Given the description of an element on the screen output the (x, y) to click on. 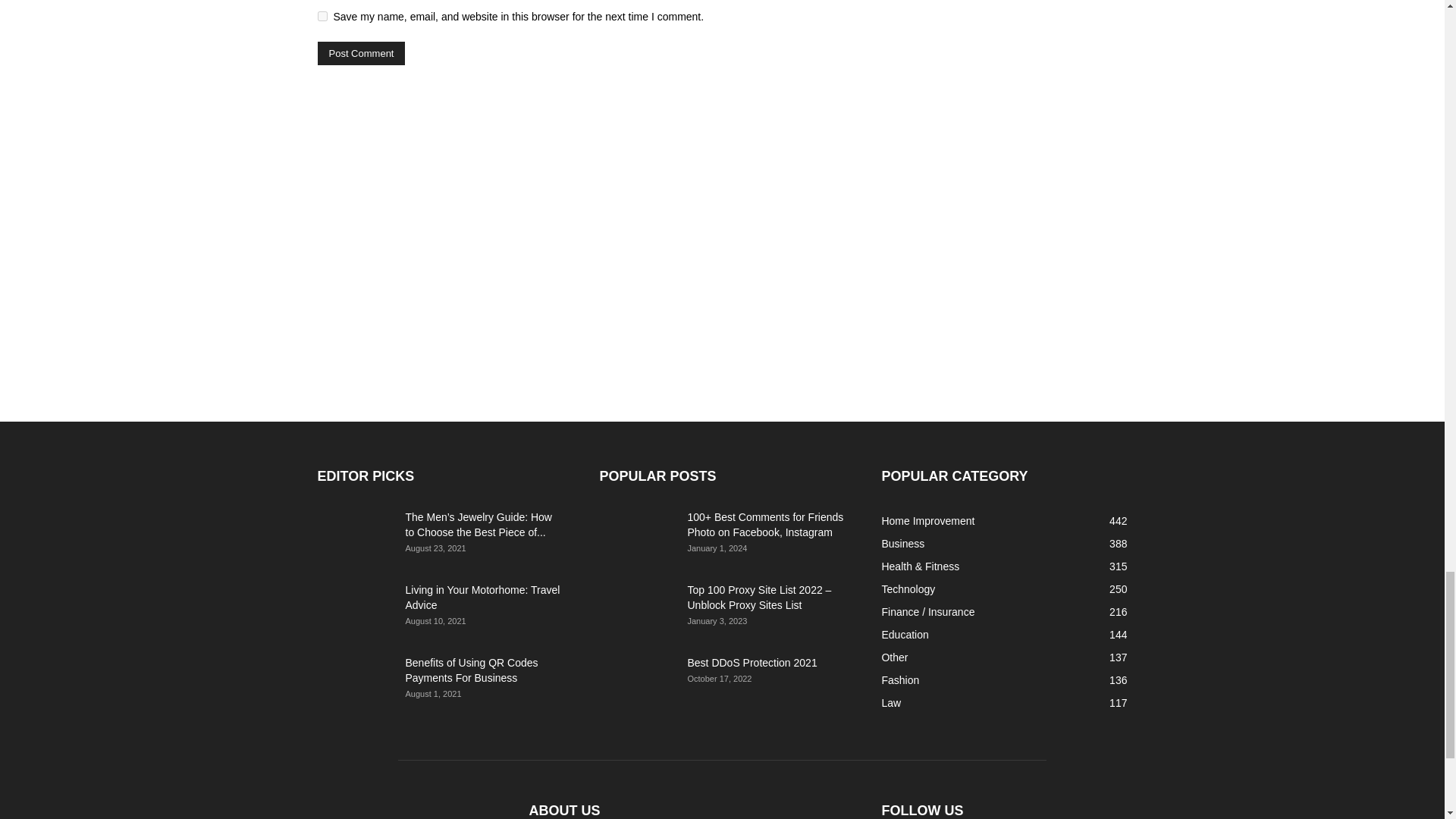
yes (321, 16)
Post Comment (360, 53)
